Given the description of an element on the screen output the (x, y) to click on. 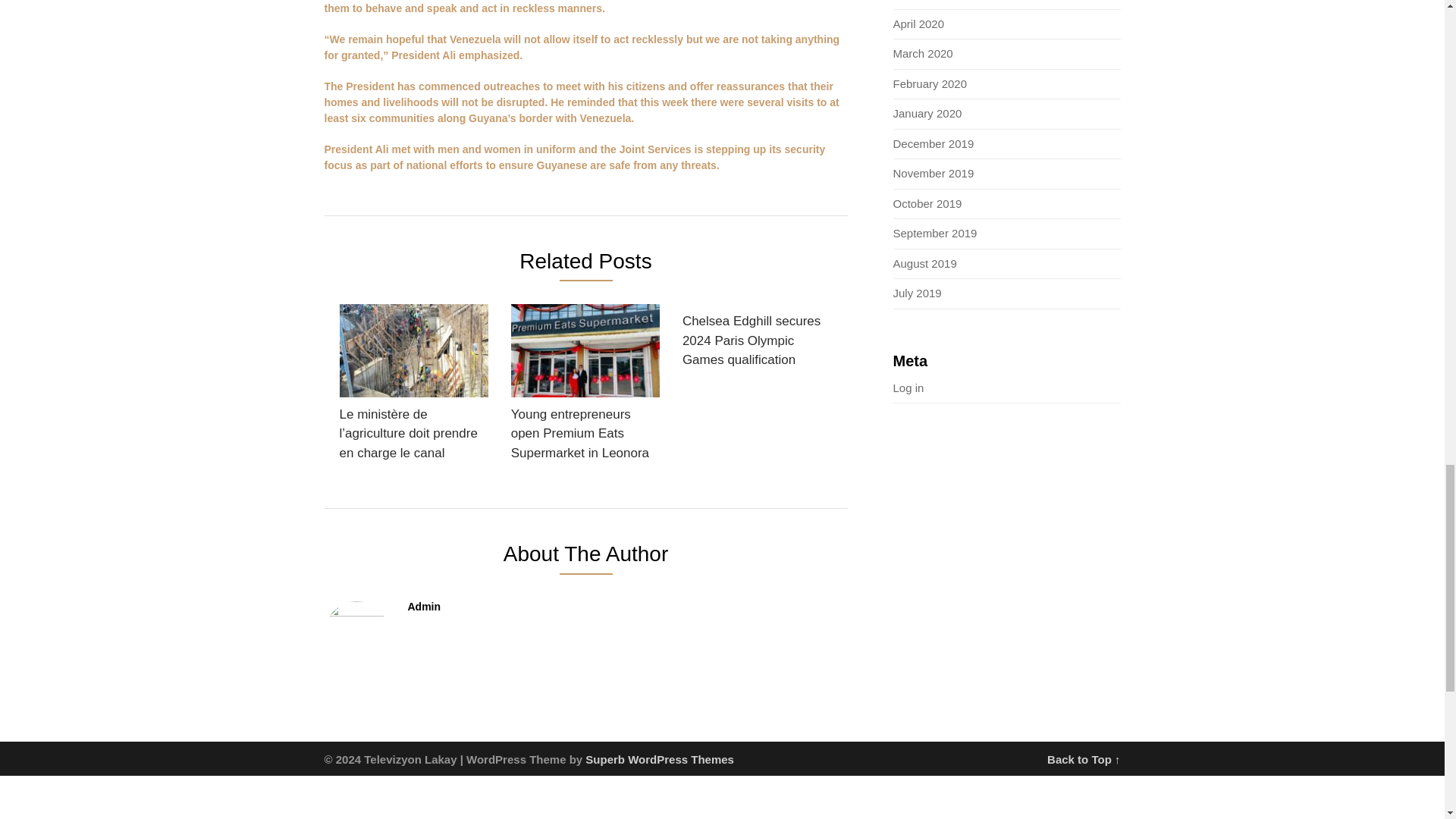
Young entrepreneurs open Premium Eats Supermarket in Leonora (585, 386)
Advertisement (455, 797)
Related Posts (585, 263)
Young entrepreneurs open Premium Eats Supermarket in Leonora (585, 386)
